Given the description of an element on the screen output the (x, y) to click on. 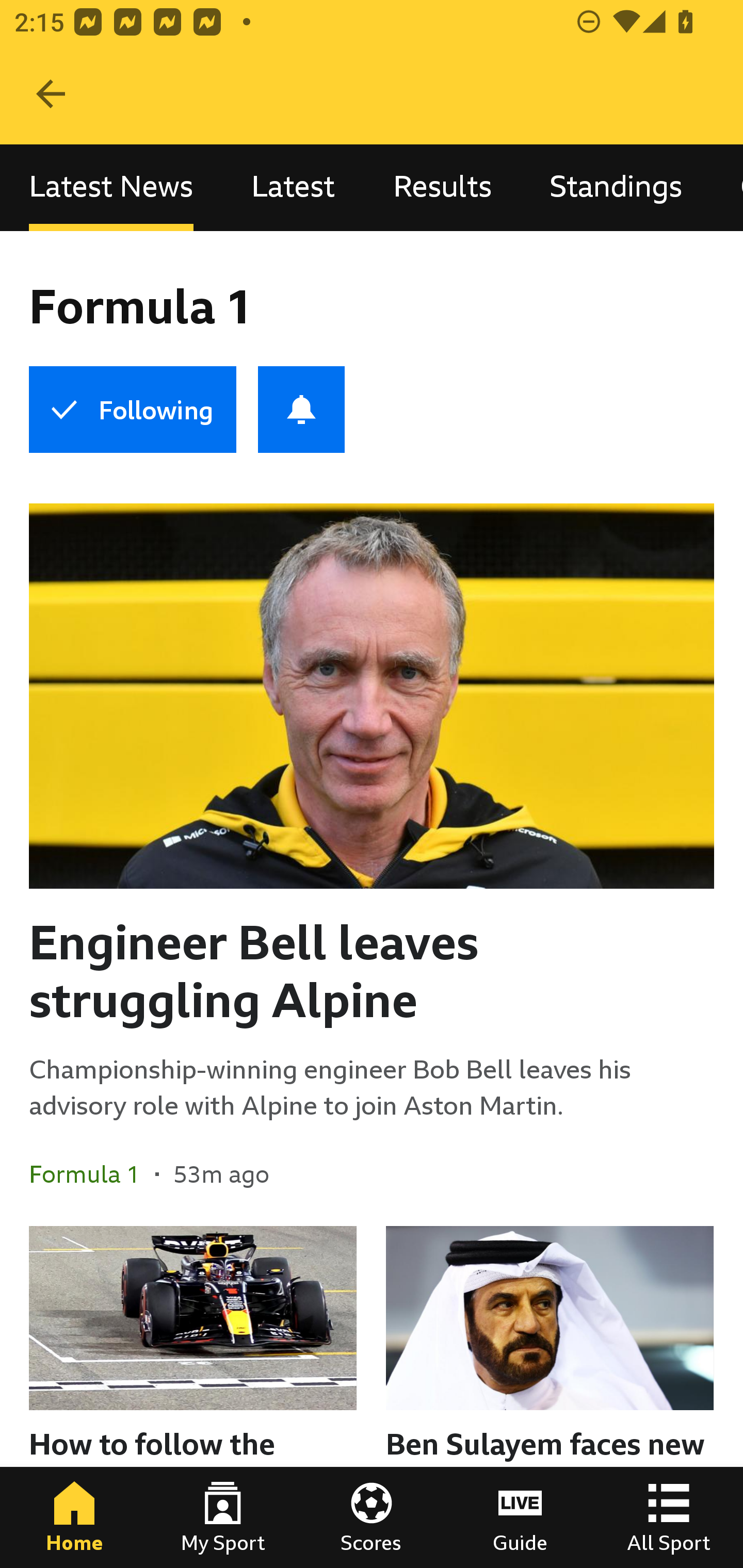
Navigate up (50, 93)
Latest News, selected Latest News (111, 187)
Latest (293, 187)
Results (442, 187)
Standings (615, 187)
Following Formula 1 Following (132, 409)
Push notifications for Formula 1 (300, 409)
My Sport (222, 1517)
Scores (371, 1517)
Guide (519, 1517)
All Sport (668, 1517)
